Given the description of an element on the screen output the (x, y) to click on. 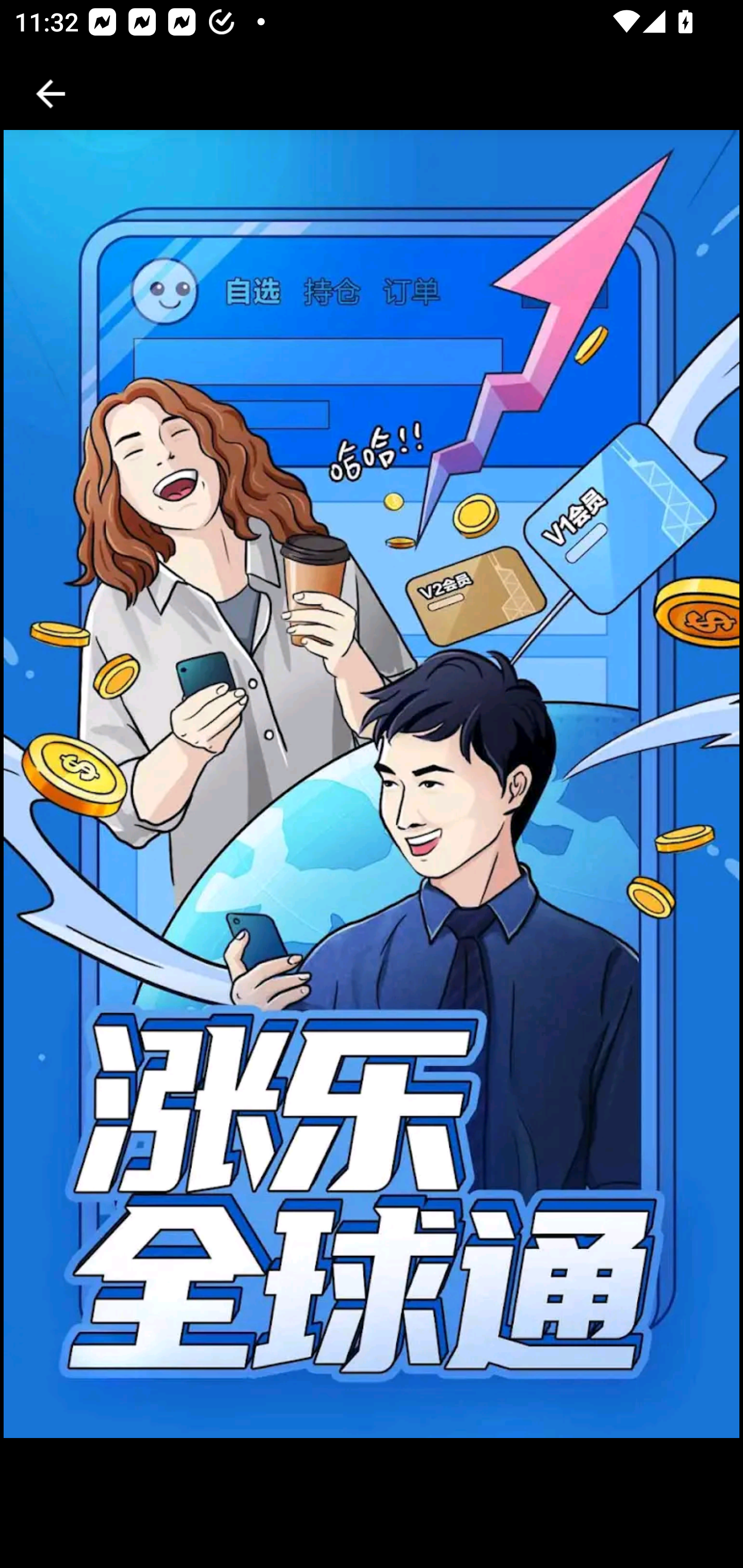
Back (50, 93)
